Given the description of an element on the screen output the (x, y) to click on. 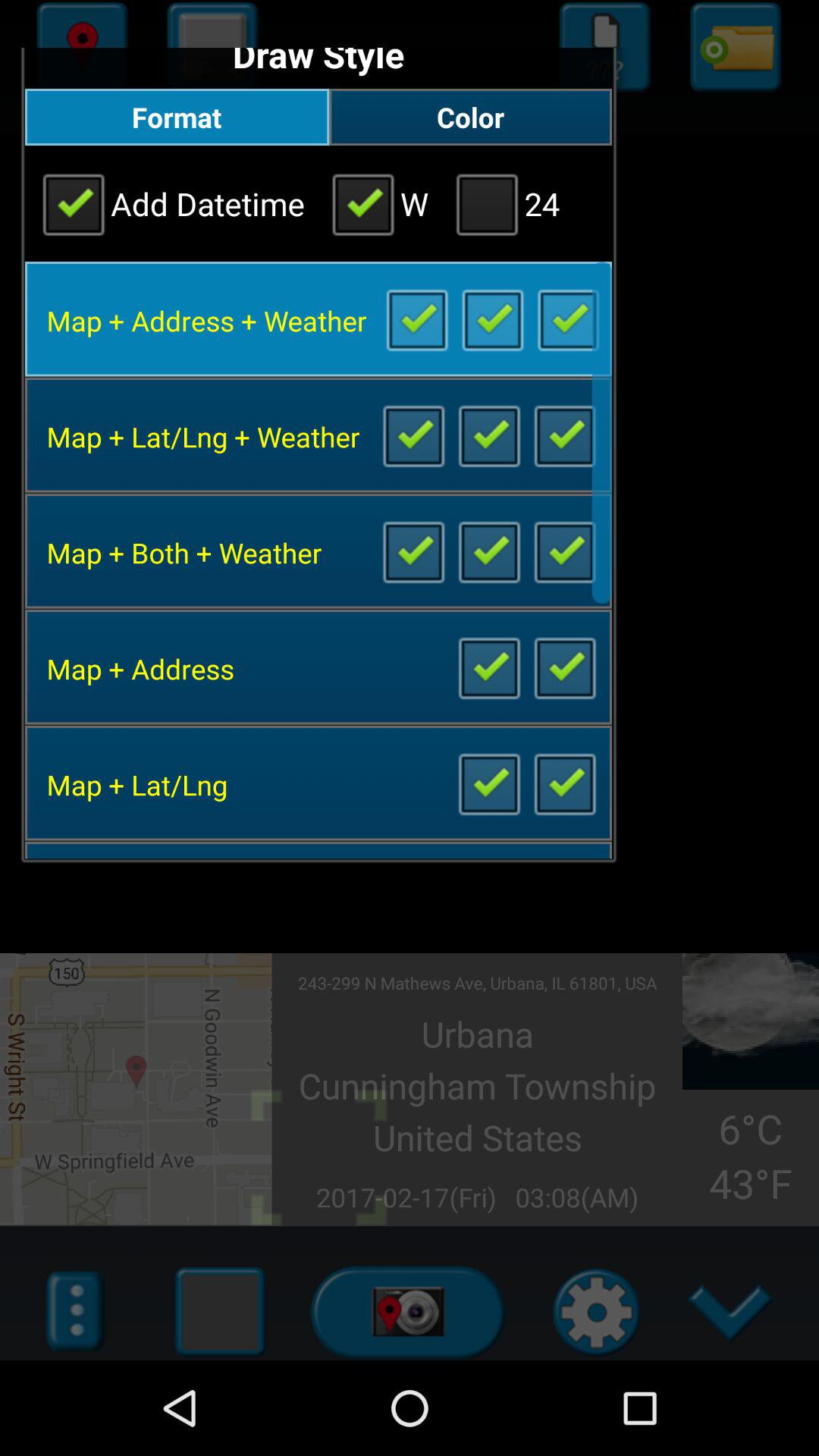
select the option (416, 318)
